Given the description of an element on the screen output the (x, y) to click on. 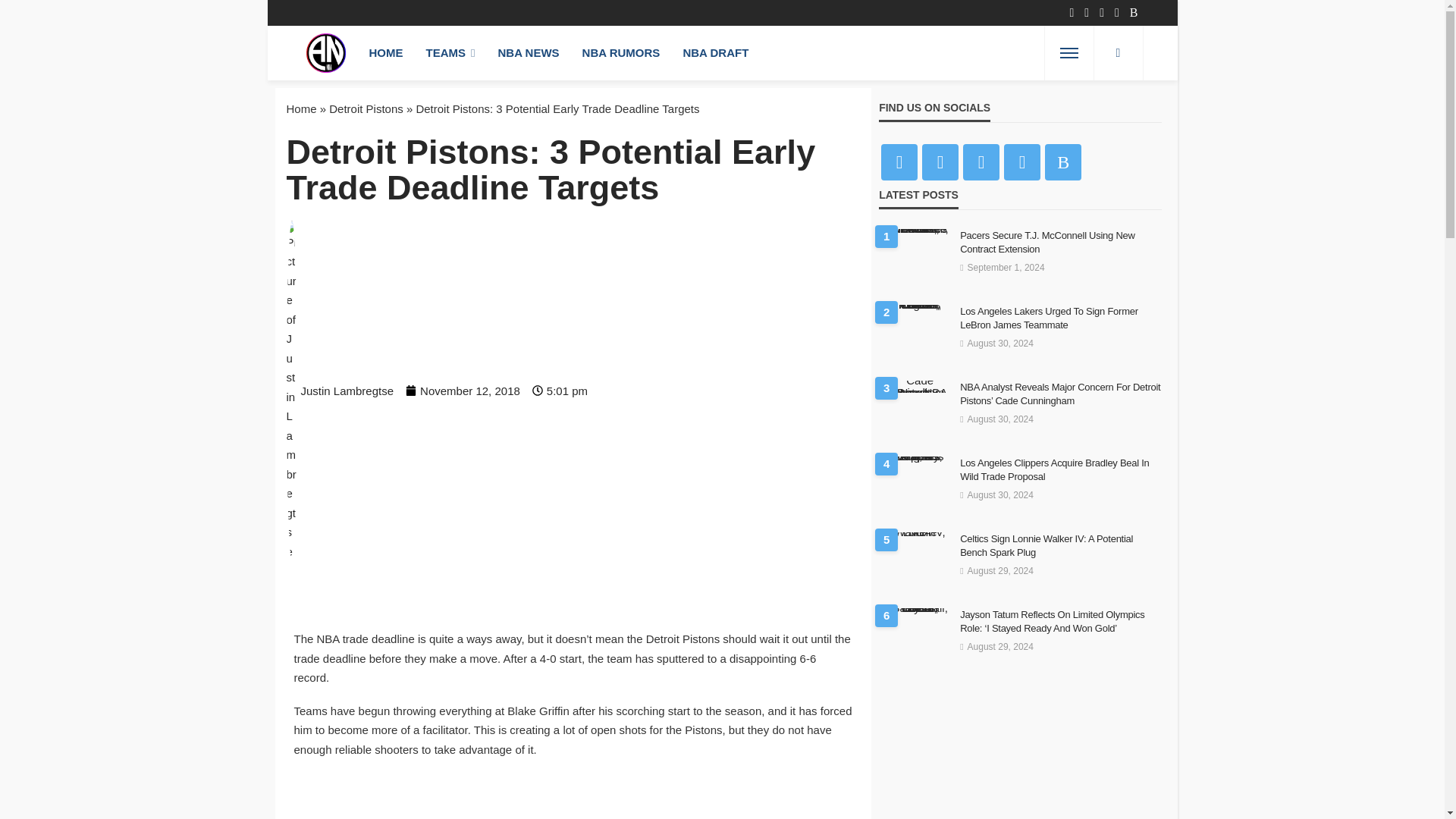
NBA Analysis Network (325, 52)
facebook (899, 161)
HOME (386, 52)
TEAMS (449, 52)
